Given the description of an element on the screen output the (x, y) to click on. 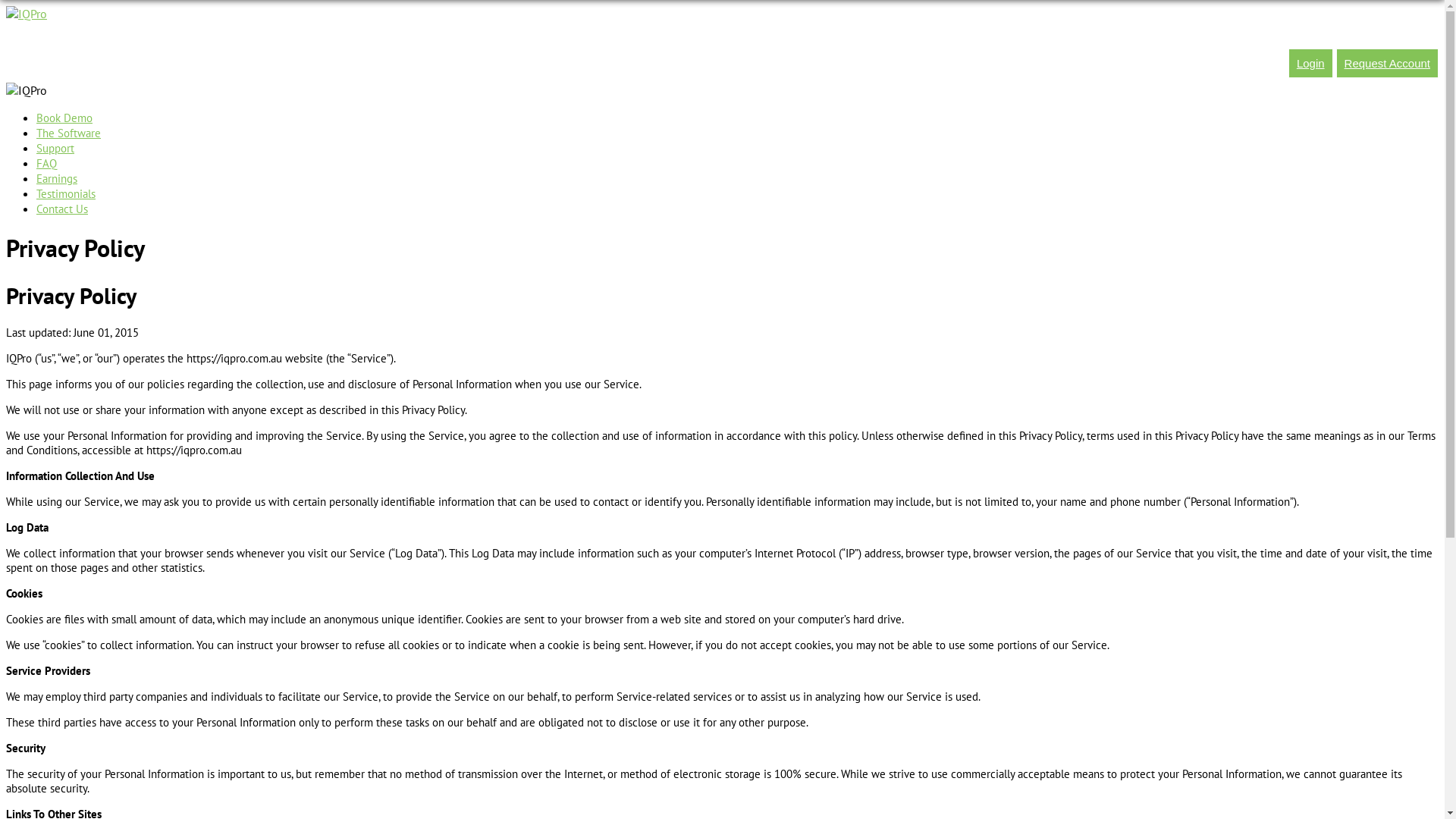
FAQ Element type: text (46, 163)
Login Element type: text (1310, 63)
Earnings Element type: text (56, 178)
Contact Us Element type: text (61, 208)
Support Element type: text (55, 148)
Testimonials Element type: text (65, 193)
IQPro Element type: hover (26, 13)
The Software Element type: text (68, 132)
Book Demo Element type: text (64, 117)
Request Account Element type: text (1387, 63)
